Given the description of an element on the screen output the (x, y) to click on. 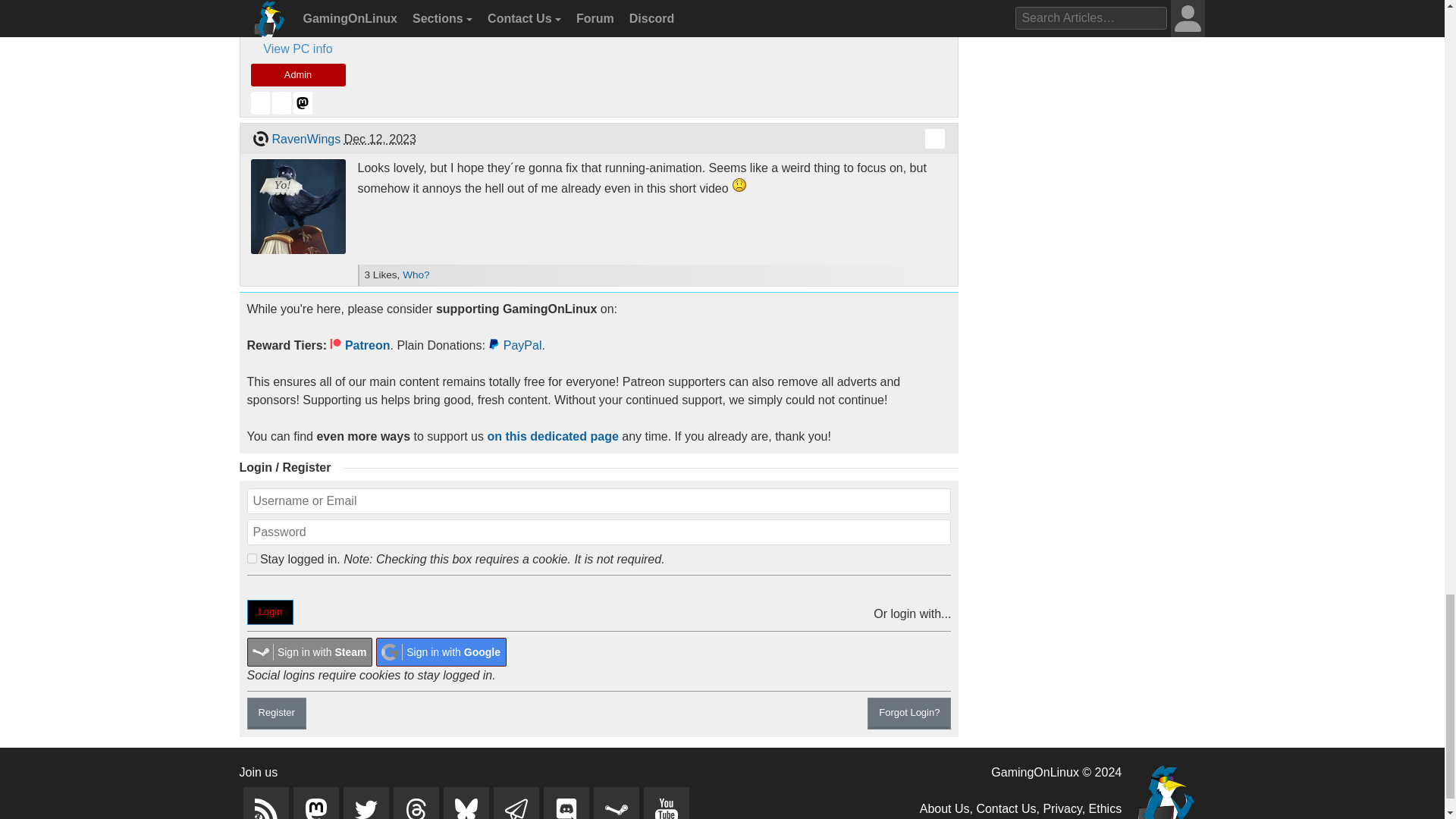
on (252, 558)
Link to this comment (934, 138)
Void (259, 138)
